Given the description of an element on the screen output the (x, y) to click on. 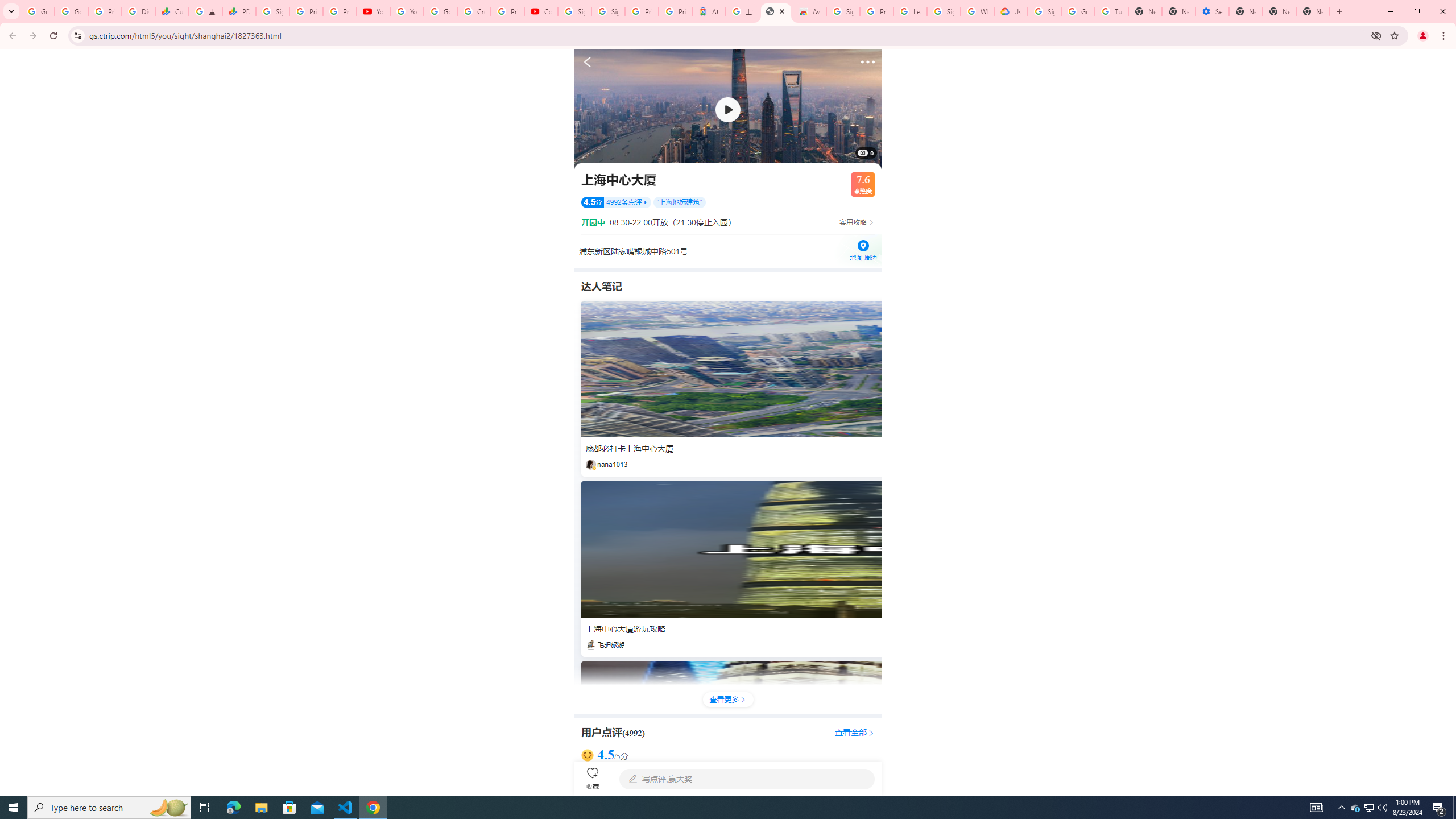
Sign in - Google Accounts (574, 11)
New Tab (1313, 11)
Sign in - Google Accounts (1043, 11)
Settings - Addresses and more (1212, 11)
Google Account Help (441, 11)
PDD Holdings Inc - ADR (PDD) Price & News - Google Finance (238, 11)
To get missing image descriptions, open the context menu. (727, 109)
Google Account Help (1077, 11)
